Given the description of an element on the screen output the (x, y) to click on. 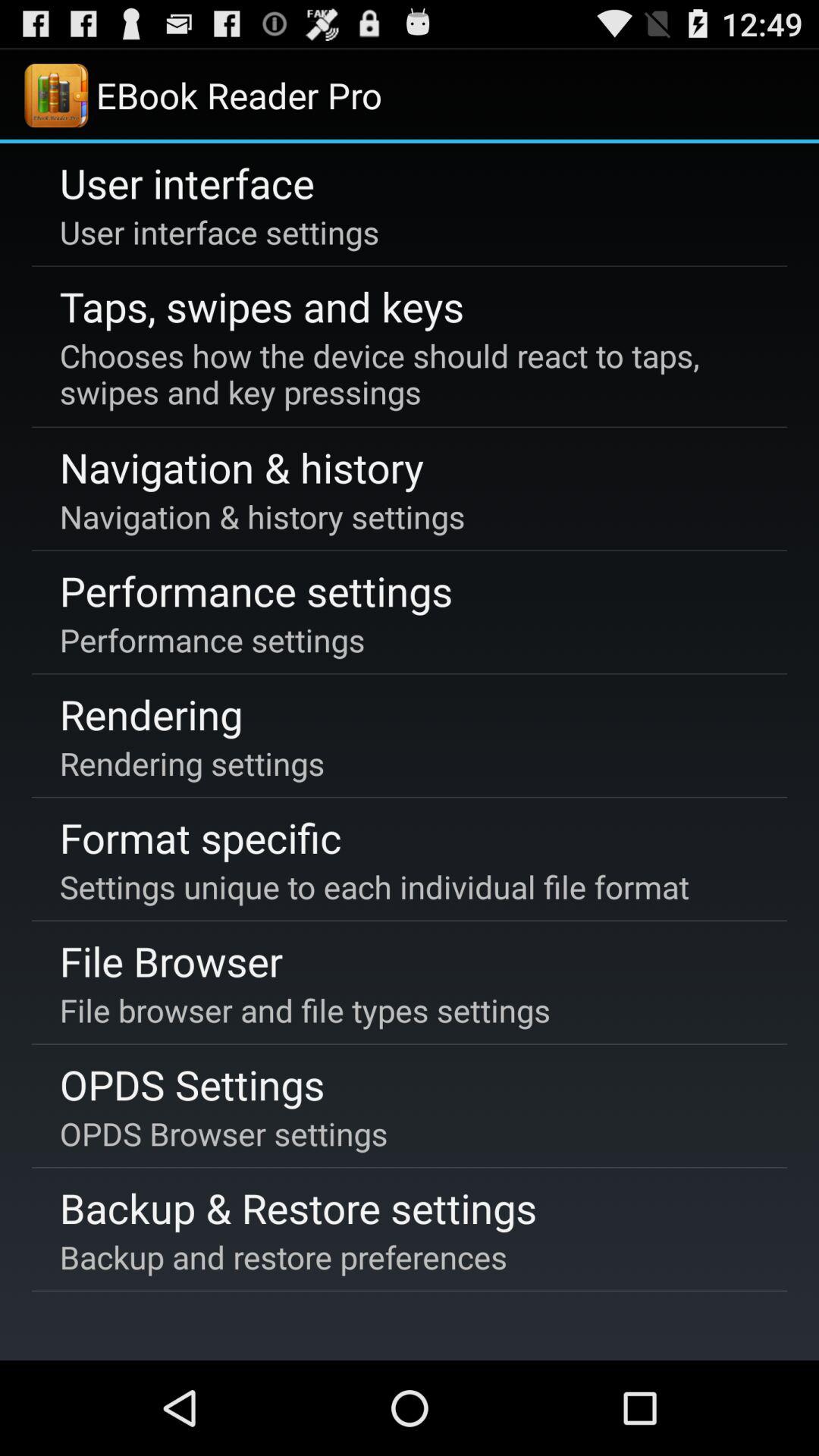
turn off chooses how the app (407, 373)
